Given the description of an element on the screen output the (x, y) to click on. 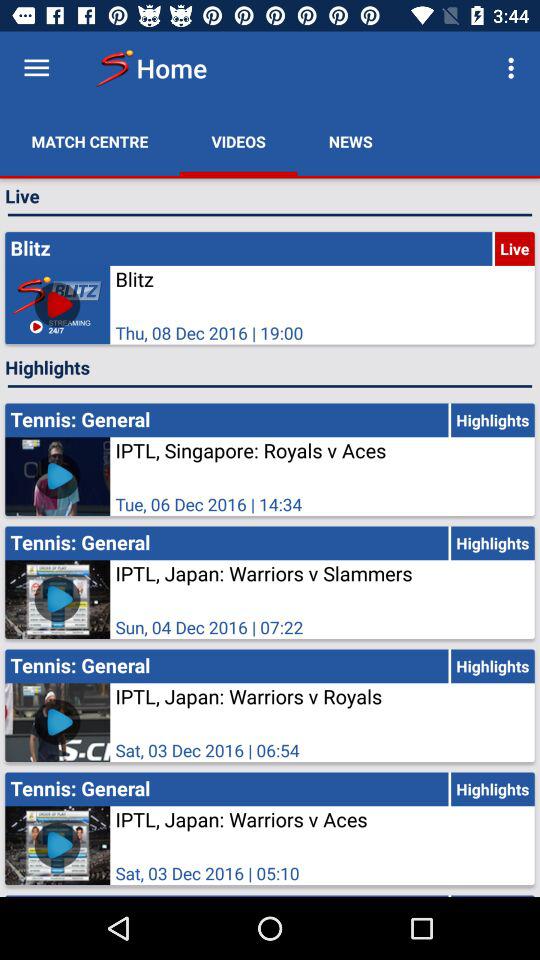
launch the app next to videos (90, 141)
